Given the description of an element on the screen output the (x, y) to click on. 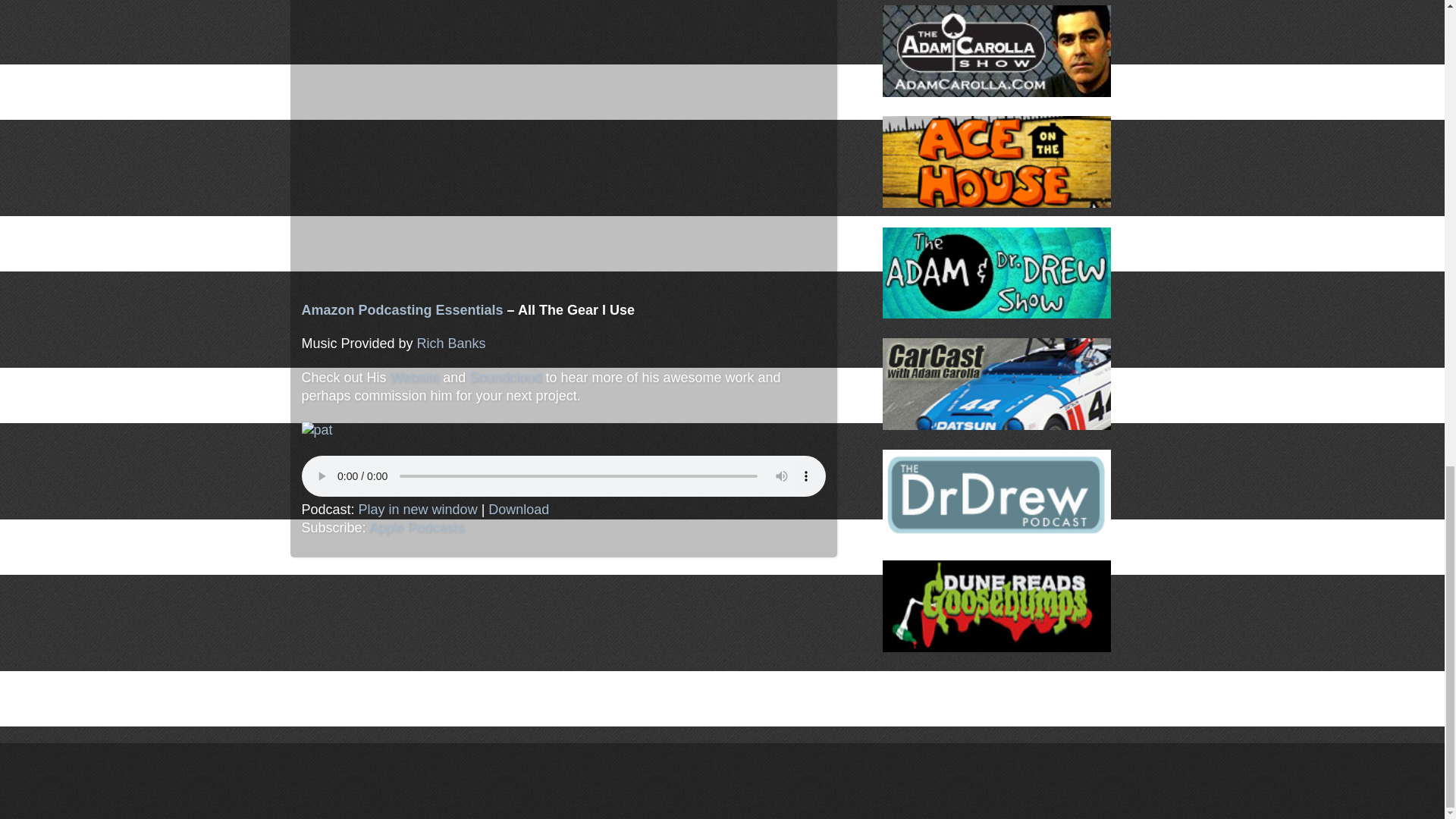
Amazon Podcasting Essentials (402, 309)
Soundcloud (504, 377)
Download (517, 509)
Download (517, 509)
Subscribe on Apple Podcasts (416, 527)
Website (414, 377)
Play in new window (417, 509)
Play in new window (417, 509)
Rich Banks (451, 343)
Apple Podcasts (416, 527)
